Given the description of an element on the screen output the (x, y) to click on. 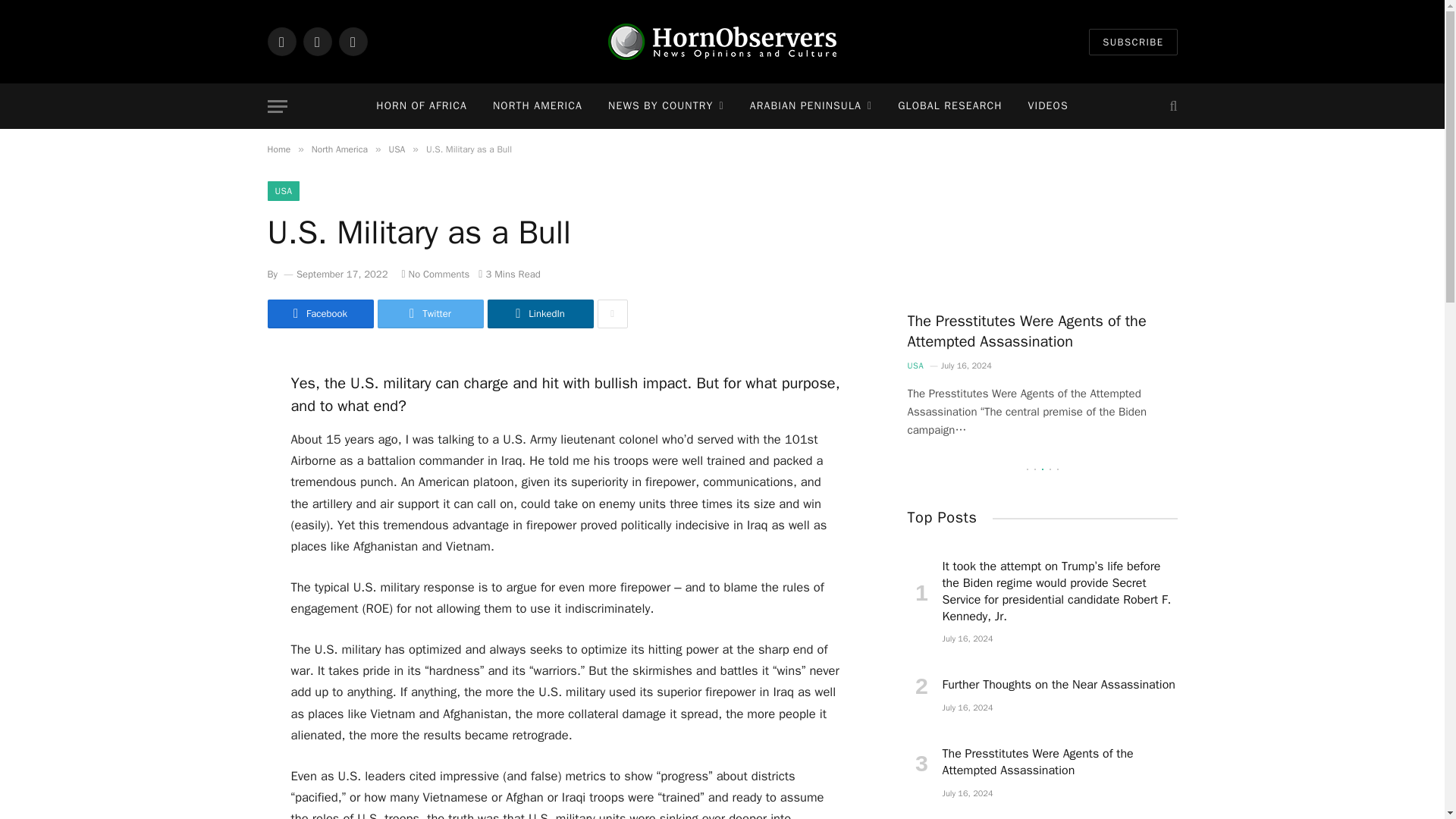
Horn Observers (721, 41)
Share on LinkedIn (539, 313)
NORTH AMERICA (537, 105)
NEWS BY COUNTRY (665, 105)
Instagram (351, 41)
ARABIAN PENINSULA (810, 105)
HORN OF AFRICA (421, 105)
Show More Social Sharing (611, 313)
SUBSCRIBE (1132, 41)
Facebook (280, 41)
Share on Facebook (319, 313)
